Given the description of an element on the screen output the (x, y) to click on. 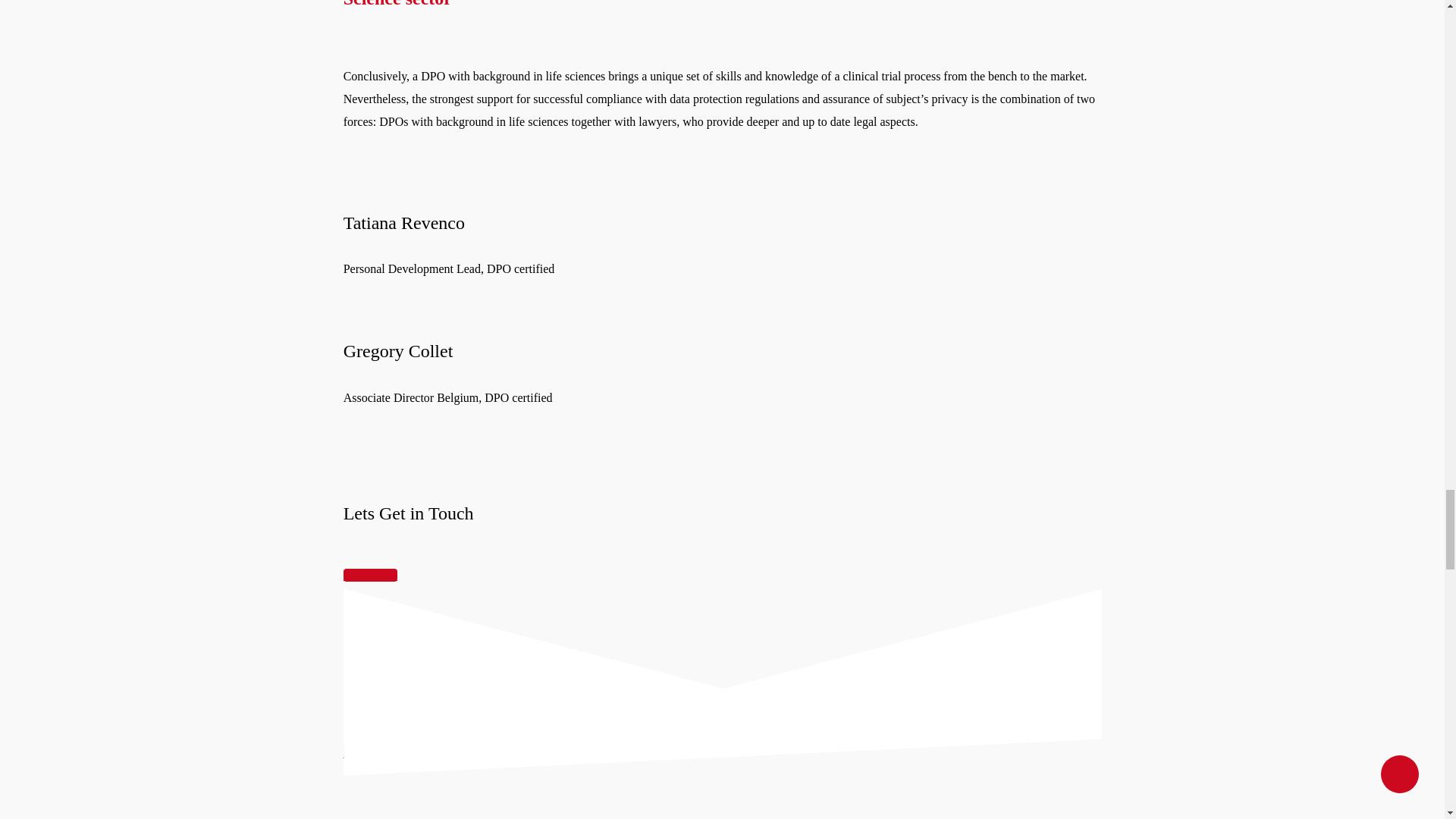
Contact Us (370, 574)
